Given the description of an element on the screen output the (x, y) to click on. 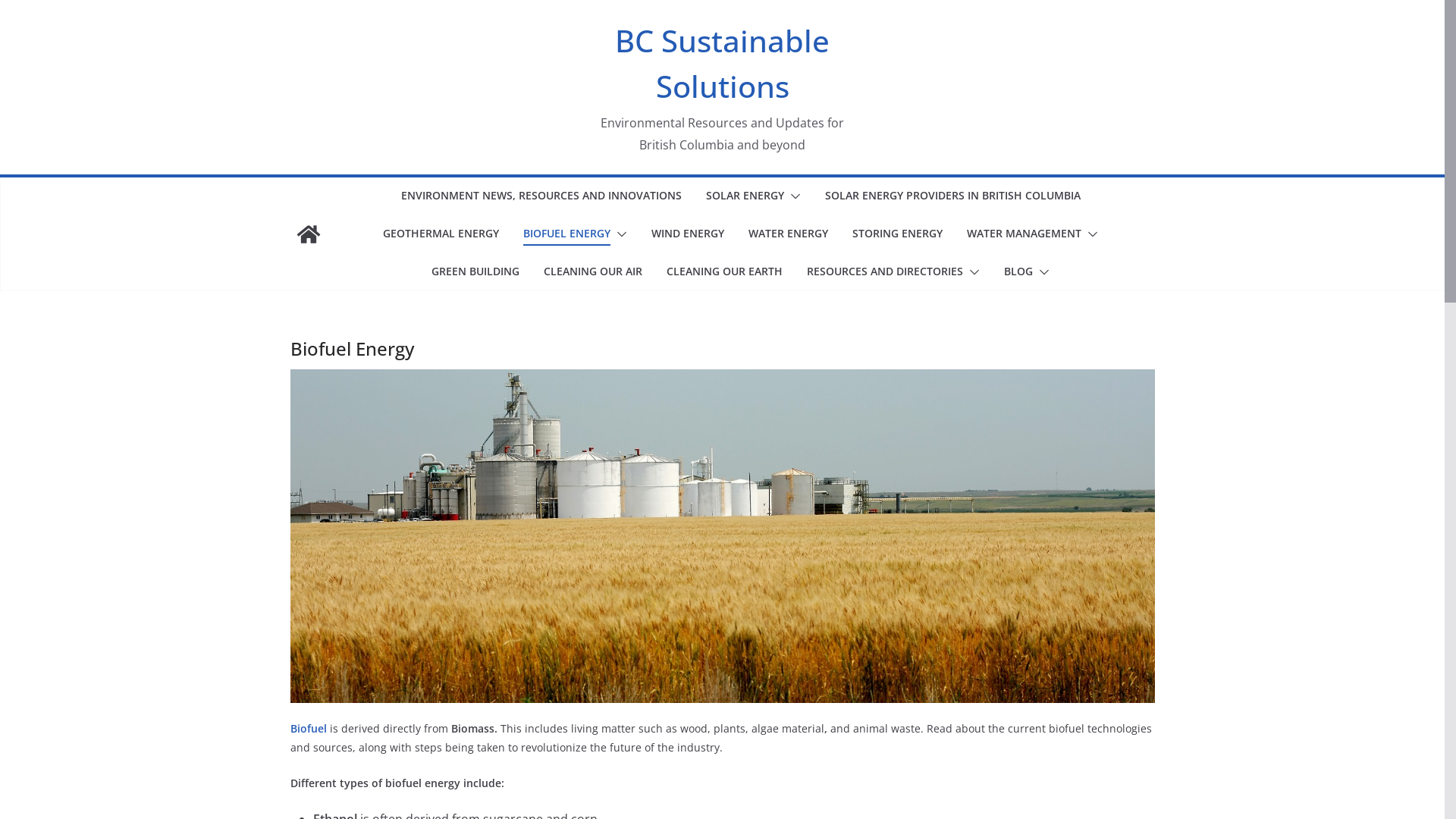
WIND ENERGY Element type: text (687, 233)
CLEANING OUR AIR Element type: text (592, 271)
GEOTHERMAL ENERGY Element type: text (440, 233)
BLOG Element type: text (1018, 271)
RESOURCES AND DIRECTORIES Element type: text (884, 271)
STORING ENERGY Element type: text (897, 233)
WATER MANAGEMENT Element type: text (1023, 233)
CLEANING OUR EARTH Element type: text (724, 271)
ENVIRONMENT NEWS, RESOURCES AND INNOVATIONS Element type: text (540, 196)
SOLAR ENERGY Element type: text (744, 196)
GREEN BUILDING Element type: text (475, 271)
WATER ENERGY Element type: text (788, 233)
Biofuel Element type: text (307, 728)
BC Sustainable Solutions Element type: hover (307, 234)
BC Sustainable Solutions Element type: text (722, 62)
BIOFUEL ENERGY Element type: text (566, 233)
SOLAR ENERGY PROVIDERS IN BRITISH COLUMBIA Element type: text (952, 196)
